Given the description of an element on the screen output the (x, y) to click on. 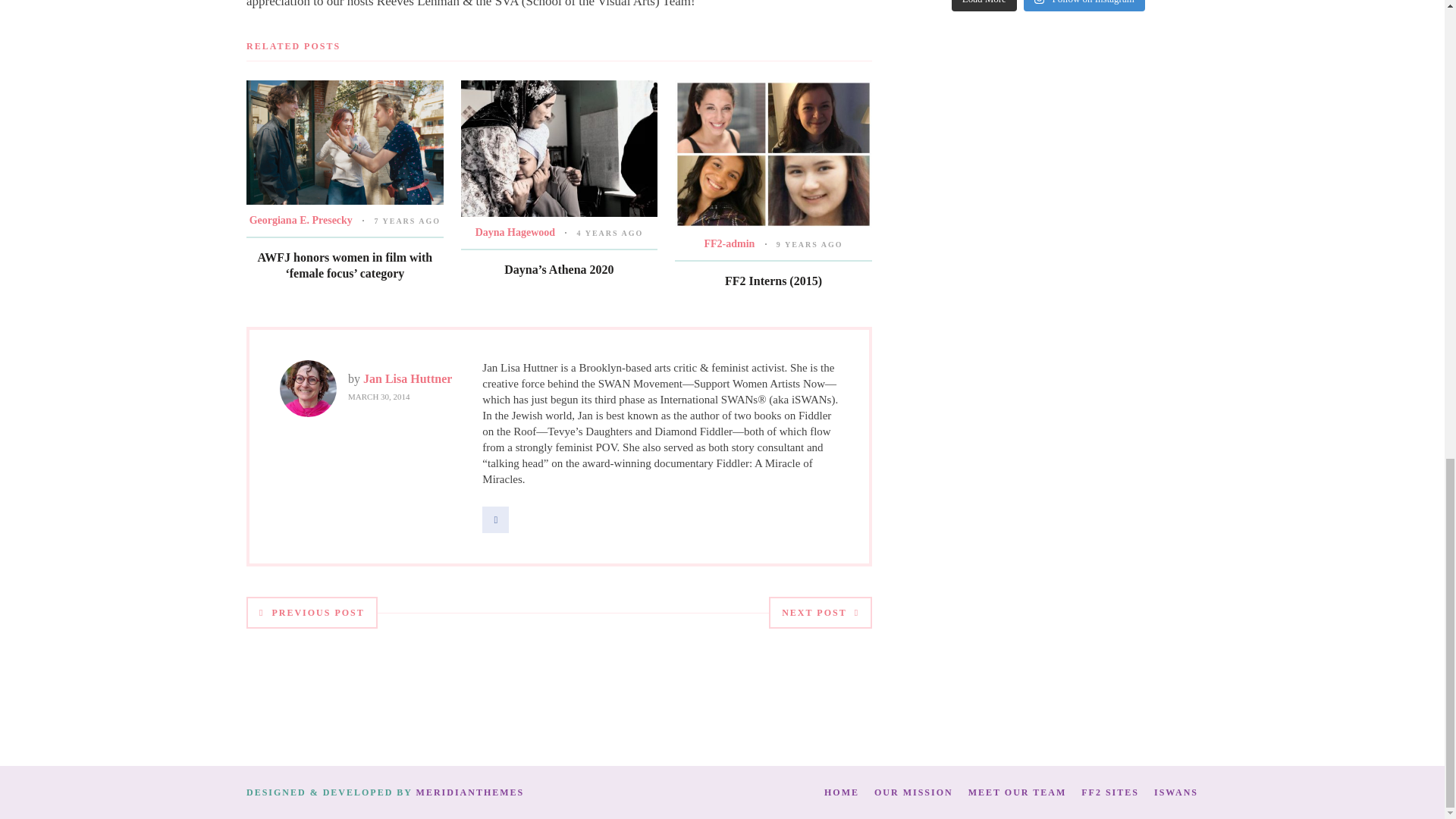
Posts by Jan Lisa Huttner (406, 378)
Posts by Georgiana E. Presecky (300, 220)
Georgiana E. Presecky (300, 220)
FF2-admin (728, 243)
Posts by Dayna Hagewood (515, 232)
Posts by FF2-admin (728, 243)
Jan Lisa Huttner (406, 378)
Dayna Hagewood (515, 232)
